Given the description of an element on the screen output the (x, y) to click on. 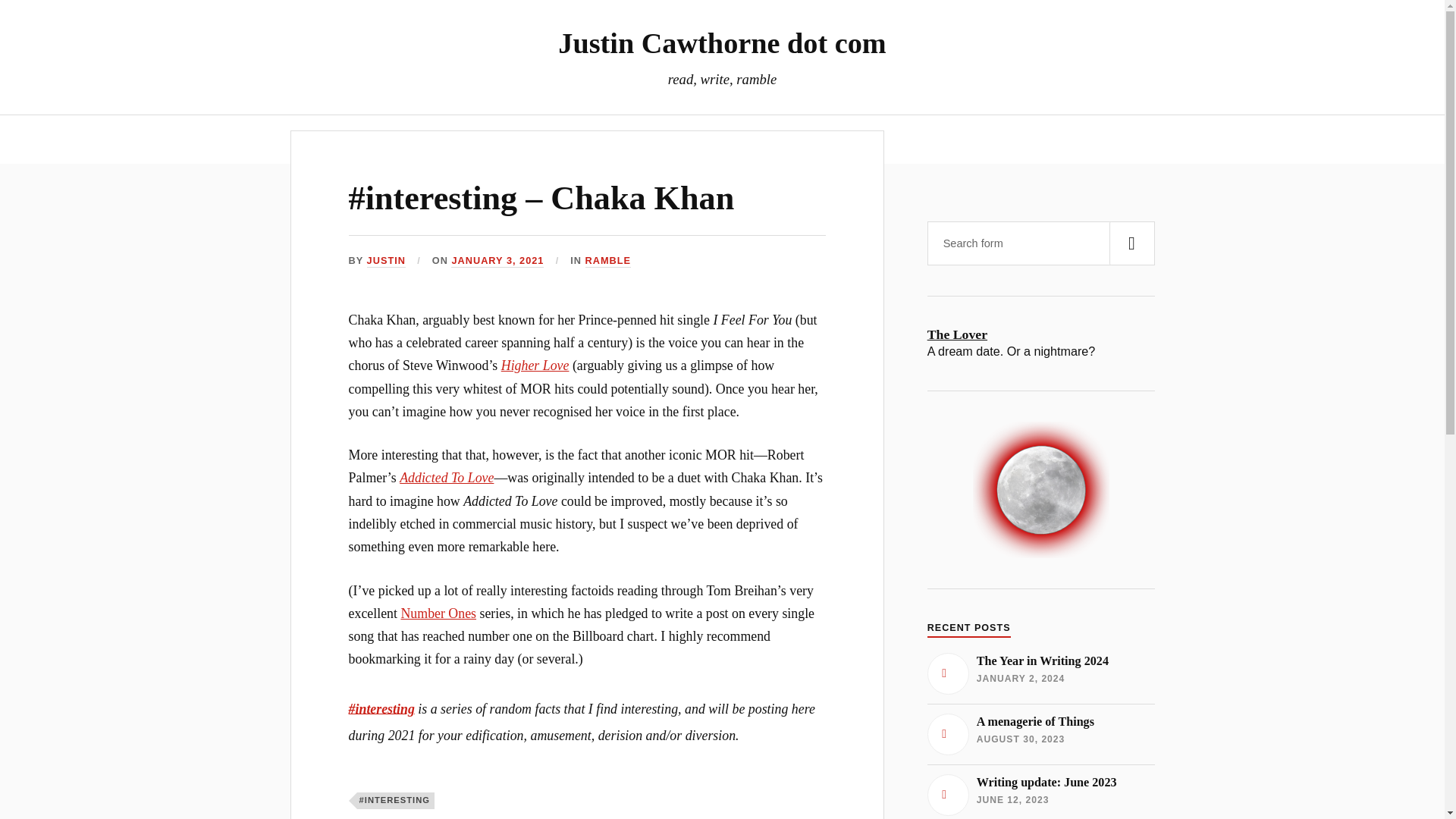
Posts by Justin (386, 260)
Slightly Odd Tales (616, 138)
Justin Cawthorne dot com (721, 42)
Number Ones (438, 613)
JUSTIN (386, 260)
Higher Love (534, 365)
The Lover (1040, 793)
JANUARY 3, 2021 (1040, 334)
Addicted To Love (497, 260)
